Given the description of an element on the screen output the (x, y) to click on. 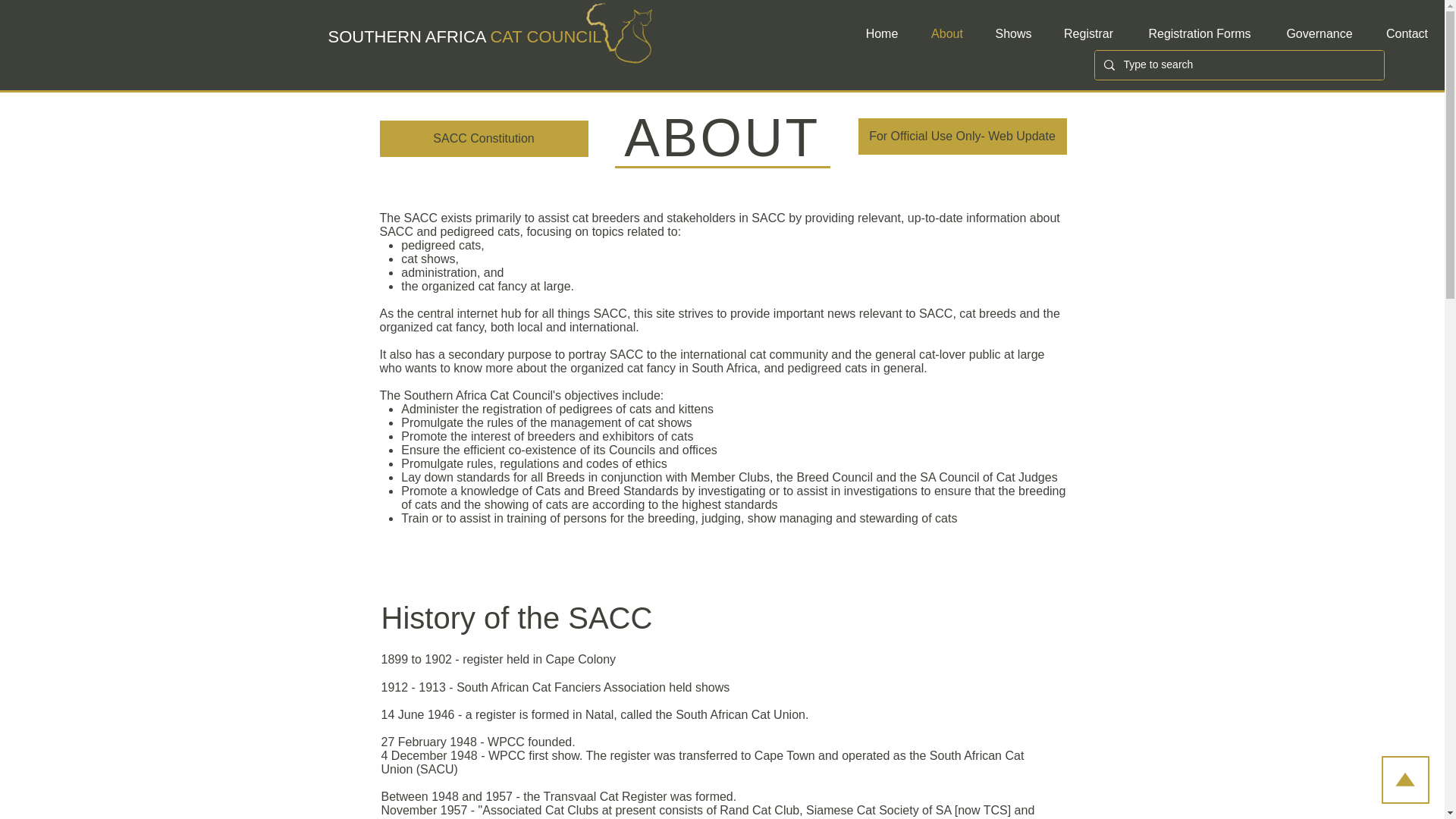
Registrar (1087, 33)
About (946, 33)
Home (881, 33)
Shows (1012, 33)
SOUTHERN AFRICA CAT COUNCIL (464, 36)
SACC Constitution (483, 138)
For Official Use Only- Web Update (963, 135)
Governance (1319, 33)
Registration Forms (1199, 33)
